Given the description of an element on the screen output the (x, y) to click on. 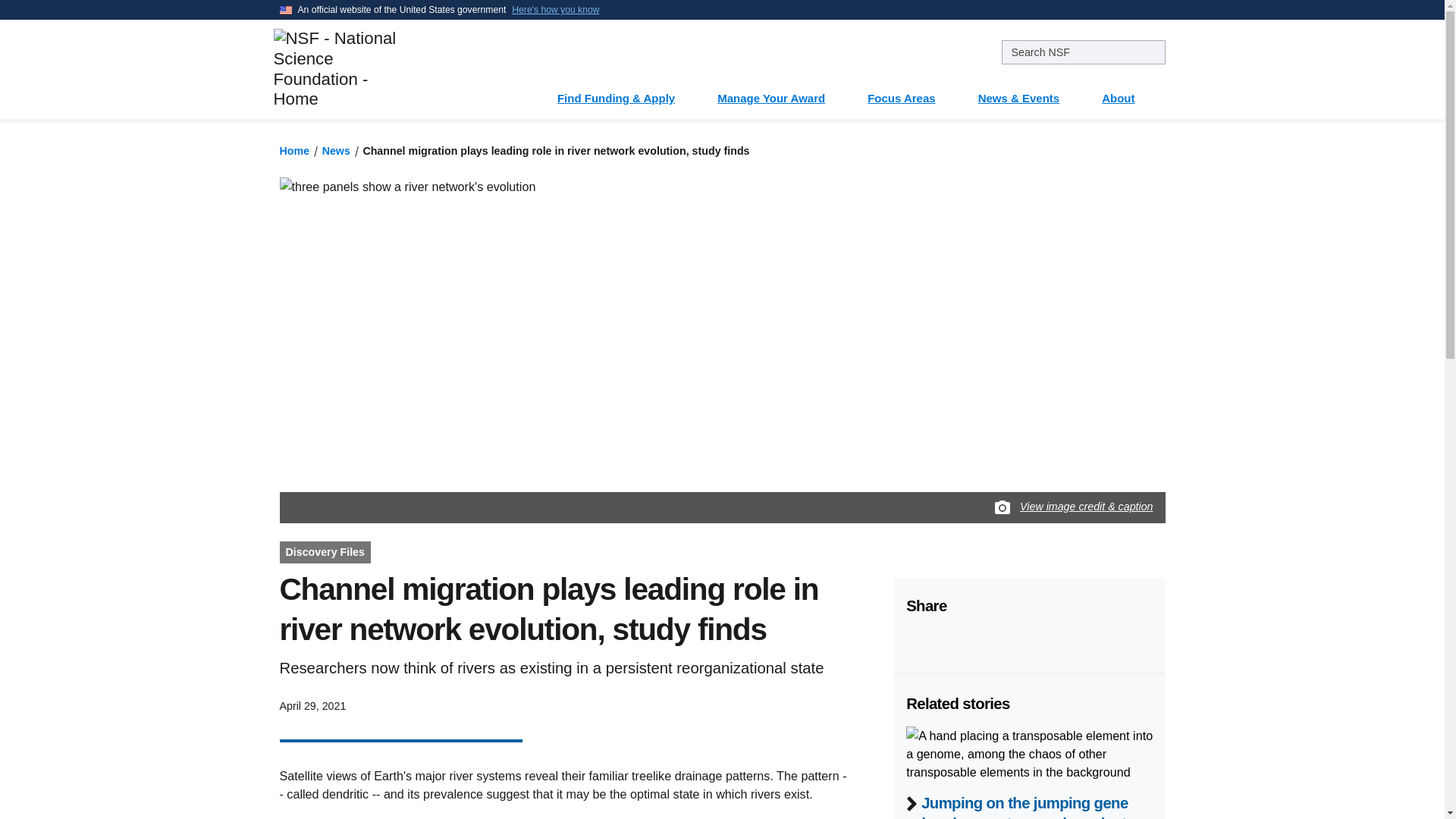
Here's how you know (555, 9)
Focus Areas (910, 92)
Home (293, 150)
News (335, 150)
Manage Your Award (780, 92)
LinkedIn (992, 640)
search (1082, 52)
About (1126, 92)
Facebook (917, 640)
NSF - National Science Foundation - Home (385, 68)
Email (1030, 640)
